Given the description of an element on the screen output the (x, y) to click on. 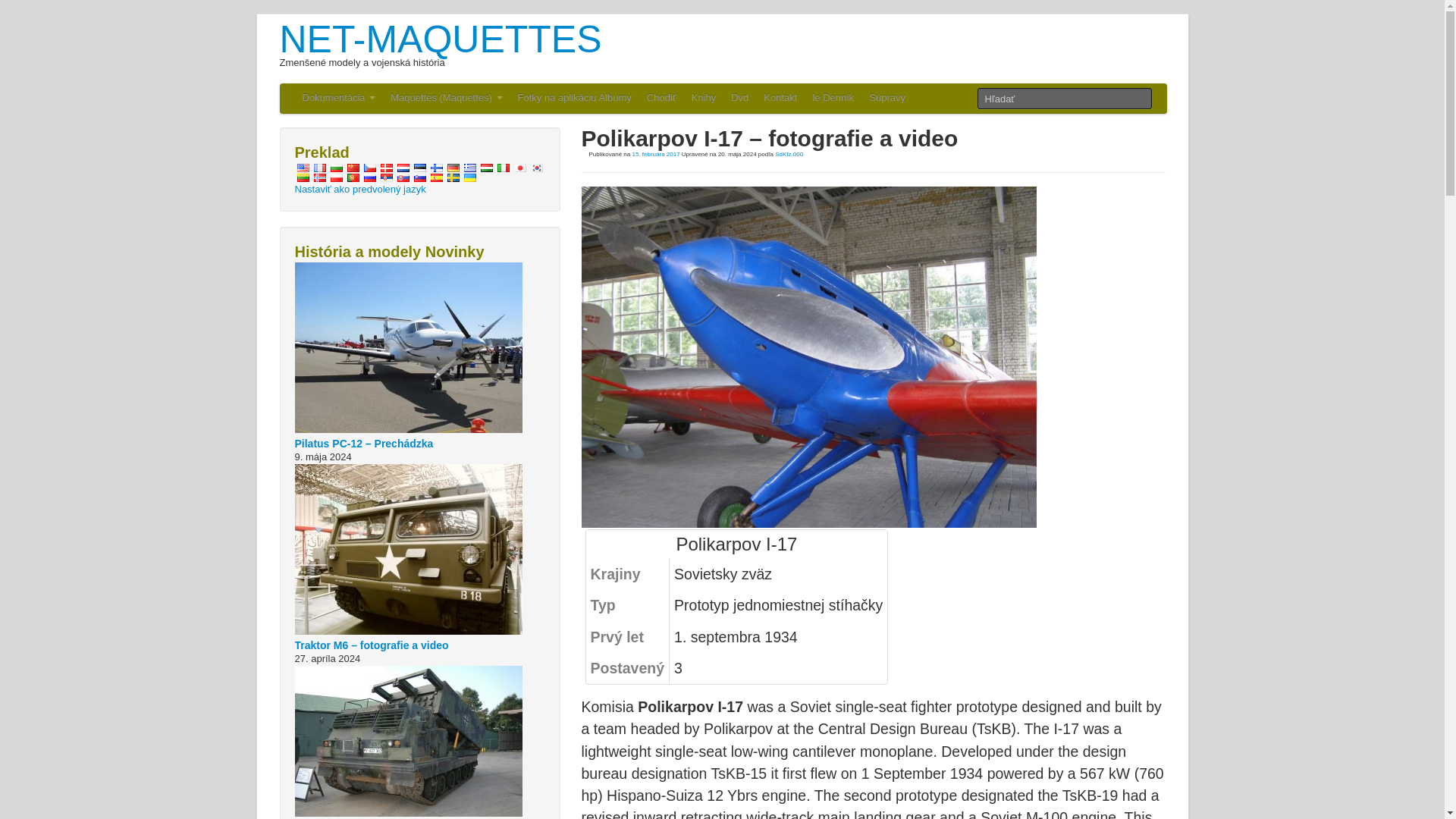
NET-MAQUETTES (440, 39)
10 h 15 min (655, 154)
NET-MAQUETTES (440, 39)
